Given the description of an element on the screen output the (x, y) to click on. 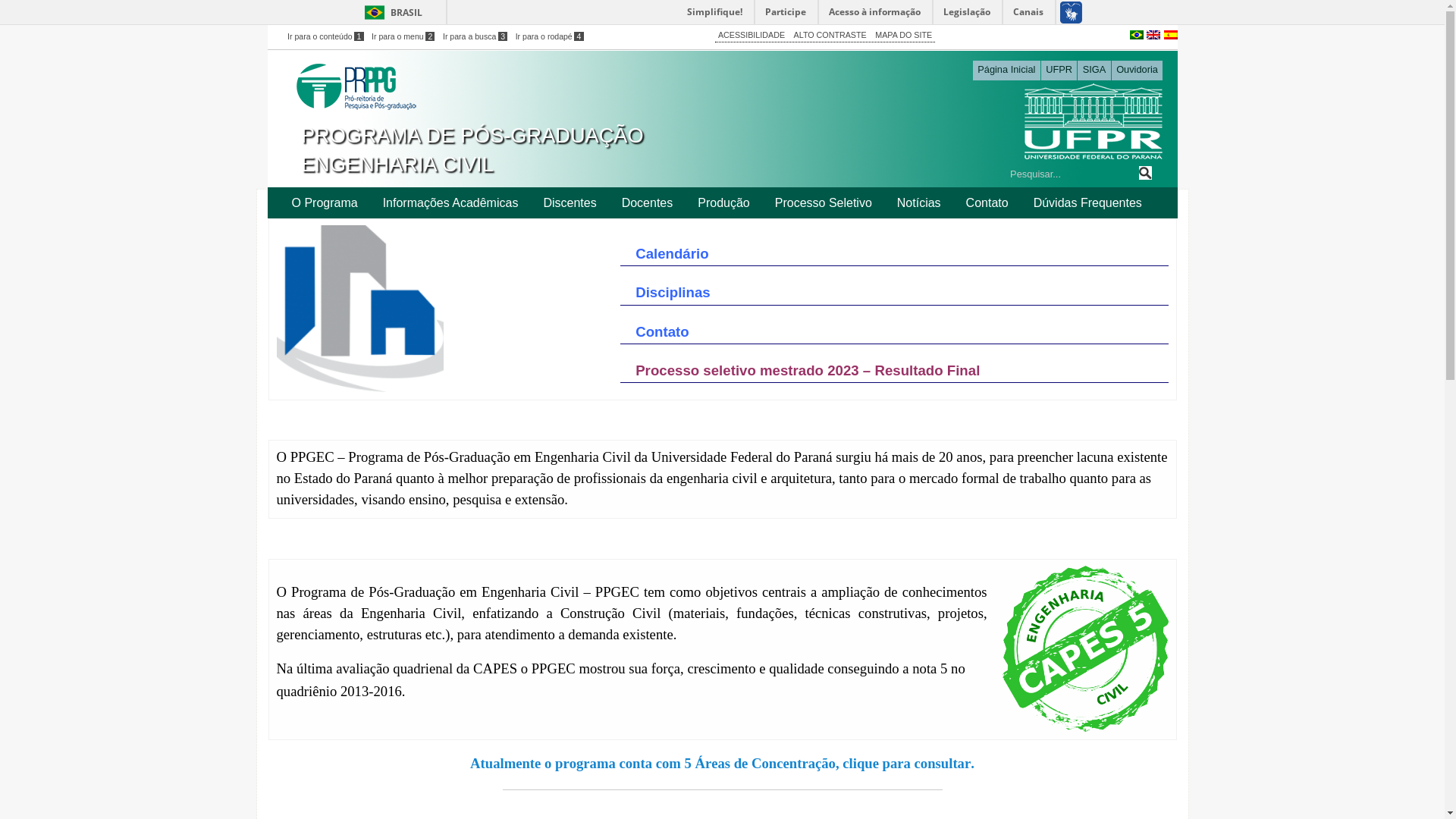
ACESSIBILIDADE Element type: text (751, 34)
SIGA Element type: text (1093, 70)
Ir para a busca3 Element type: text (475, 36)
Espanol Element type: hover (1169, 33)
BRASIL Element type: text (389, 12)
Contato Element type: text (661, 331)
English Element type: hover (1153, 33)
ALTO CONTRASTE Element type: text (829, 34)
Ouvidoria Element type: text (1137, 70)
Docentes Element type: text (647, 202)
Ir para o menu2 Element type: text (403, 36)
MAPA DO SITE Element type: text (903, 34)
Disciplinas Element type: text (672, 292)
Processo Seletivo Element type: text (823, 202)
UFPR Element type: text (1059, 70)
Discentes Element type: text (569, 202)
Contato Element type: text (986, 202)
O Programa Element type: text (324, 202)
Portugues Element type: hover (1136, 33)
